Given the description of an element on the screen output the (x, y) to click on. 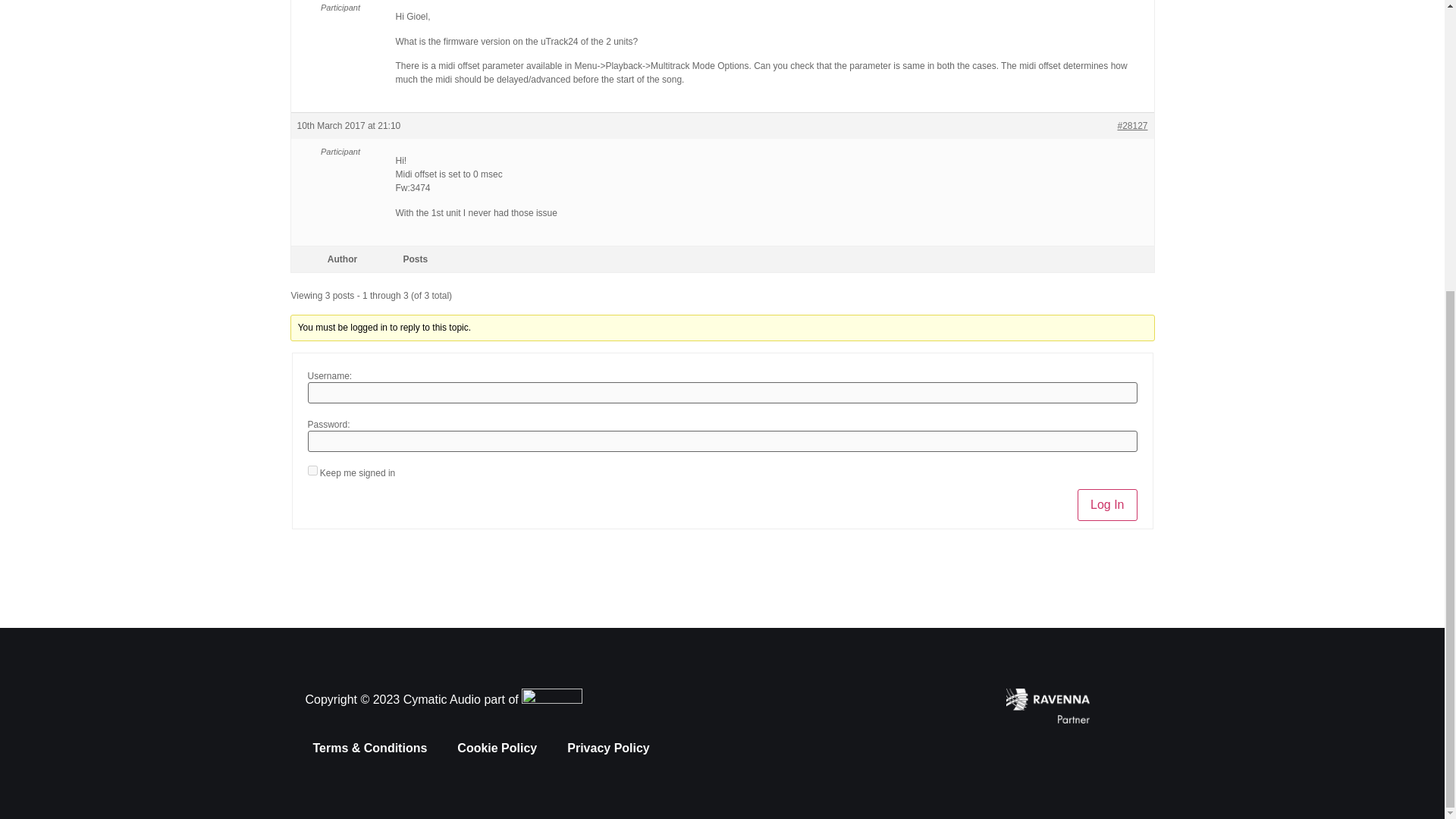
Log In (1107, 504)
forever (312, 470)
Cookie Policy (496, 748)
Privacy Policy (608, 748)
